Given the description of an element on the screen output the (x, y) to click on. 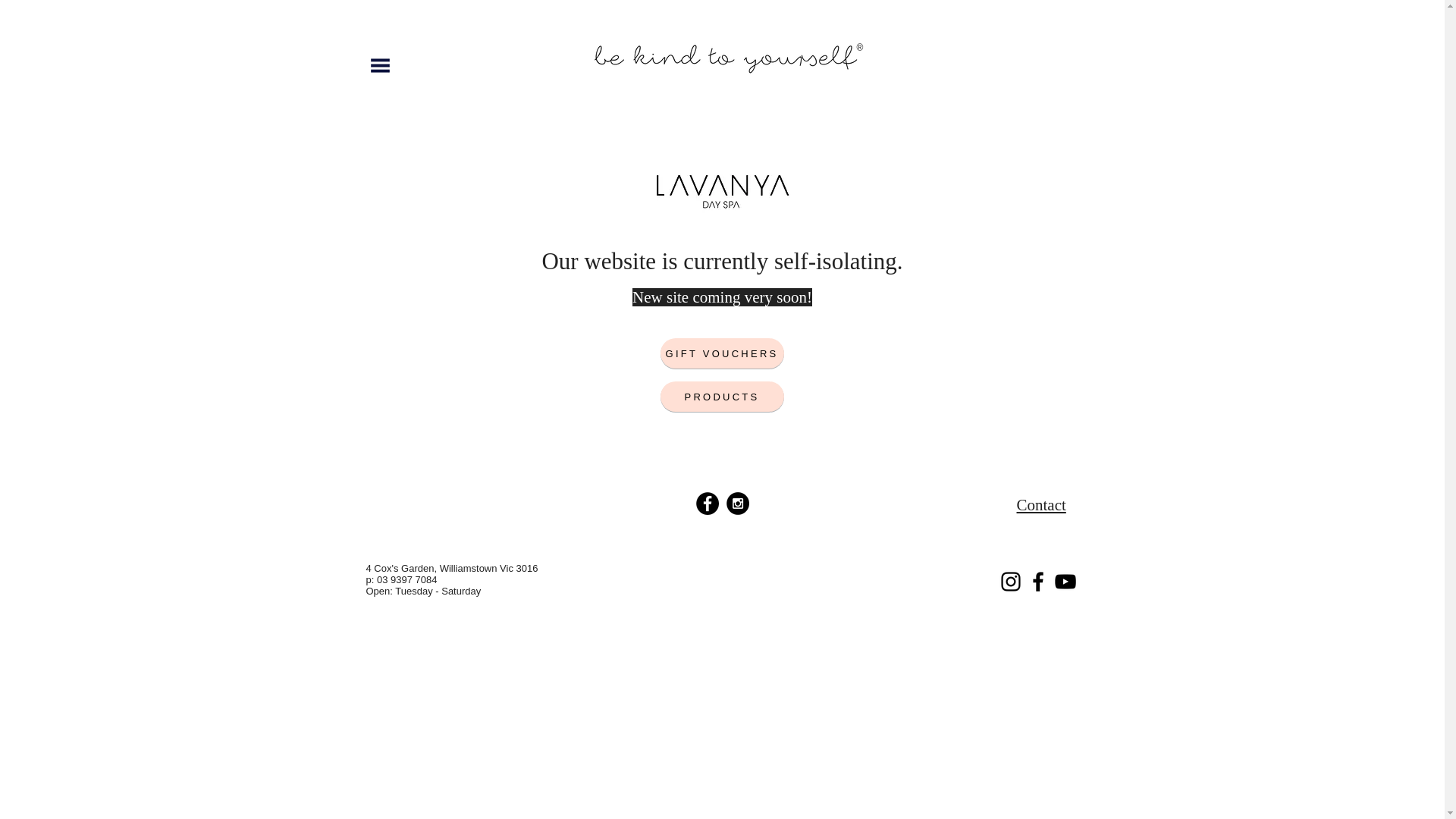
GIFT VOUCHERS Element type: text (721, 353)
Contact Element type: text (1040, 504)
PRODUCTS Element type: text (721, 396)
4 Element type: text (433, 579)
